Given the description of an element on the screen output the (x, y) to click on. 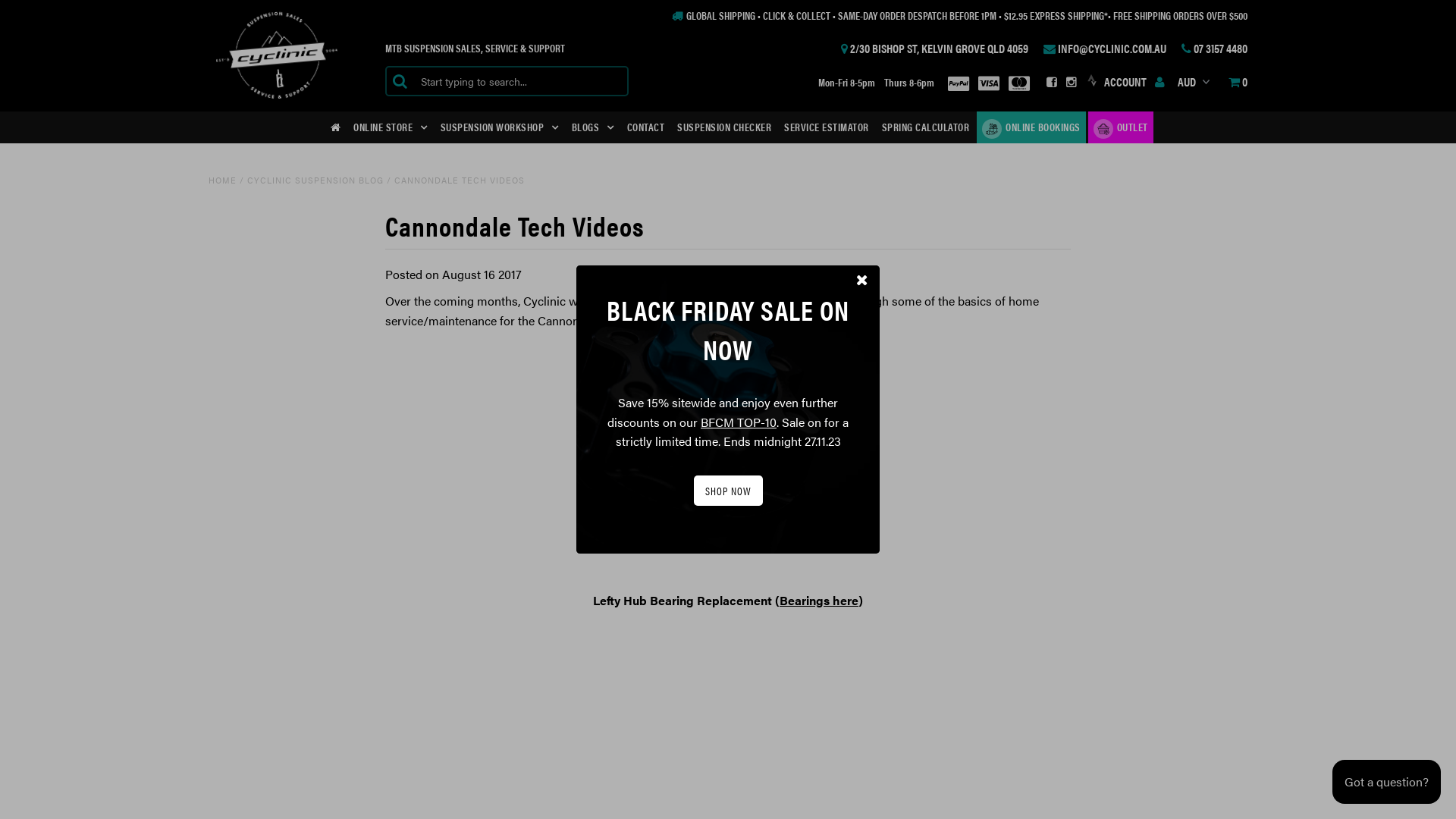
HOME Element type: text (222, 179)
SUSPENSION WORKSHOP Element type: text (499, 126)
INFO@CYCLINIC.COM.AU Element type: text (1101, 48)
SPRING CALCULATOR Element type: text (925, 126)
Bearings here Element type: text (818, 599)
BLOGS Element type: text (592, 126)
SERVICE ESTIMATOR Element type: text (826, 126)
SHOP NOW Element type: text (727, 490)
ONLINE BOOKINGS Element type: text (1030, 127)
Part# HD169/ Element type: text (805, 346)
BFCM TOP-10 Element type: text (738, 421)
07 3157 4480 Element type: text (1211, 48)
OUTLET Element type: text (1120, 127)
SUSPENSION CHECKER Element type: text (723, 126)
CYCLINIC SUSPENSION BLOG Element type: text (315, 179)
CONTACT Element type: text (645, 126)
ACCOUNT Element type: text (1134, 81)
2/30 BISHOP ST, KELVIN GROVE QLD 4059 Element type: text (931, 48)
0 Element type: text (1234, 81)
ONLINE STORE Element type: text (390, 126)
